Given the description of an element on the screen output the (x, y) to click on. 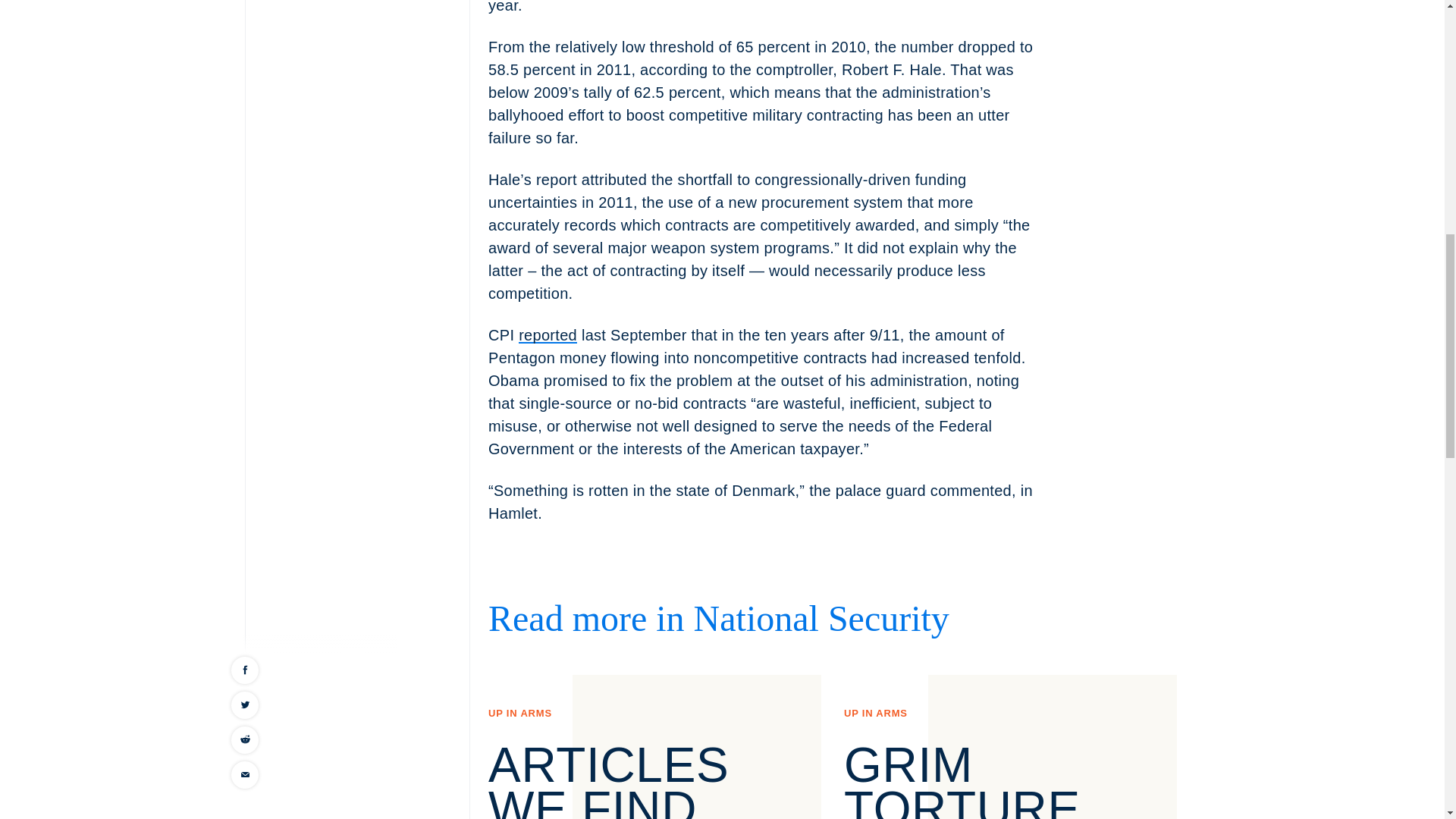
ARTICLES WE FIND INTERESTING (654, 778)
UP IN ARMS (519, 713)
UP IN ARMS (875, 713)
GRIM TORTURE TALES FROM SYRIA (1000, 778)
reported (547, 334)
